Given the description of an element on the screen output the (x, y) to click on. 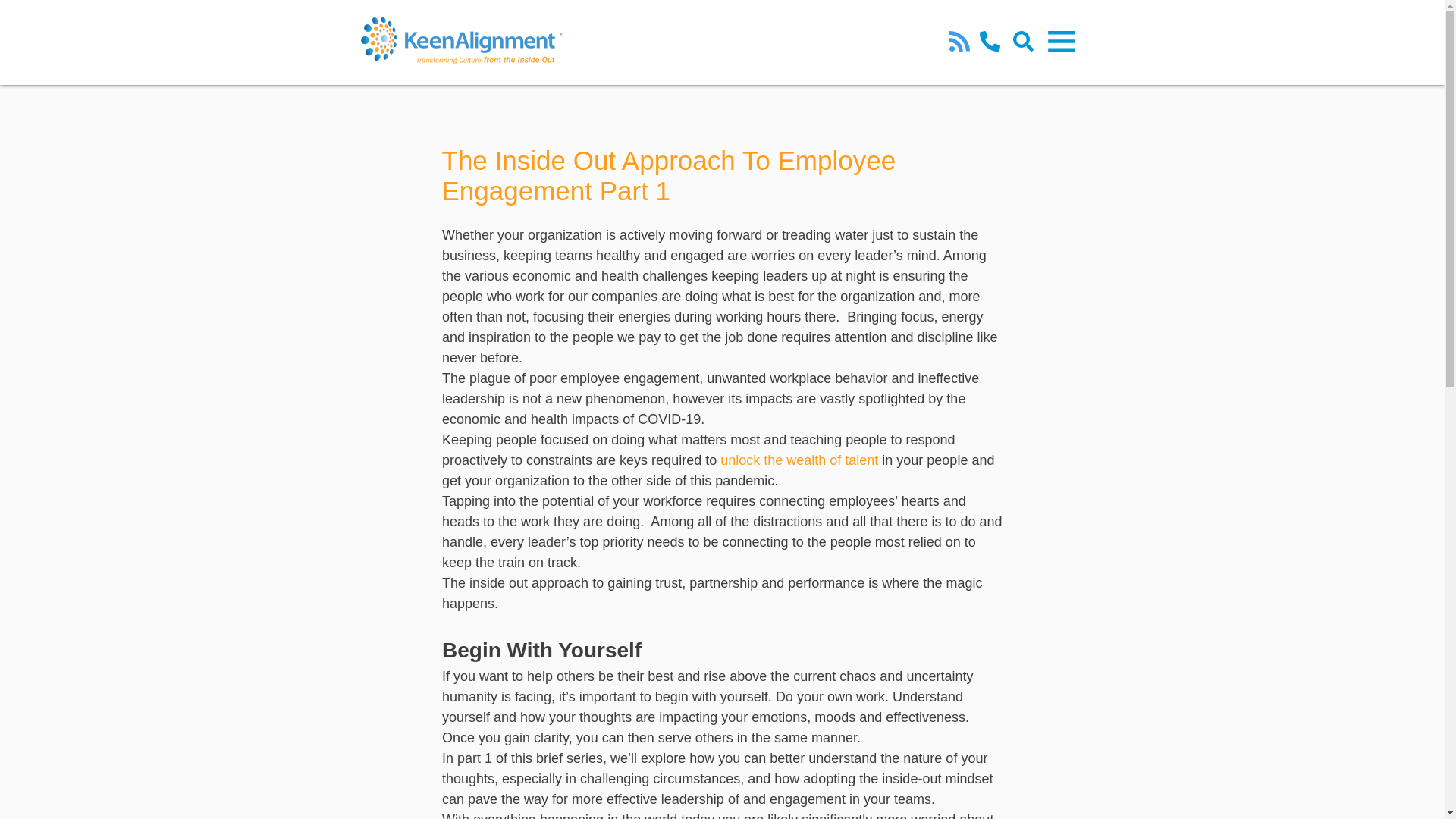
unlock the wealth of talent (798, 459)
